Given the description of an element on the screen output the (x, y) to click on. 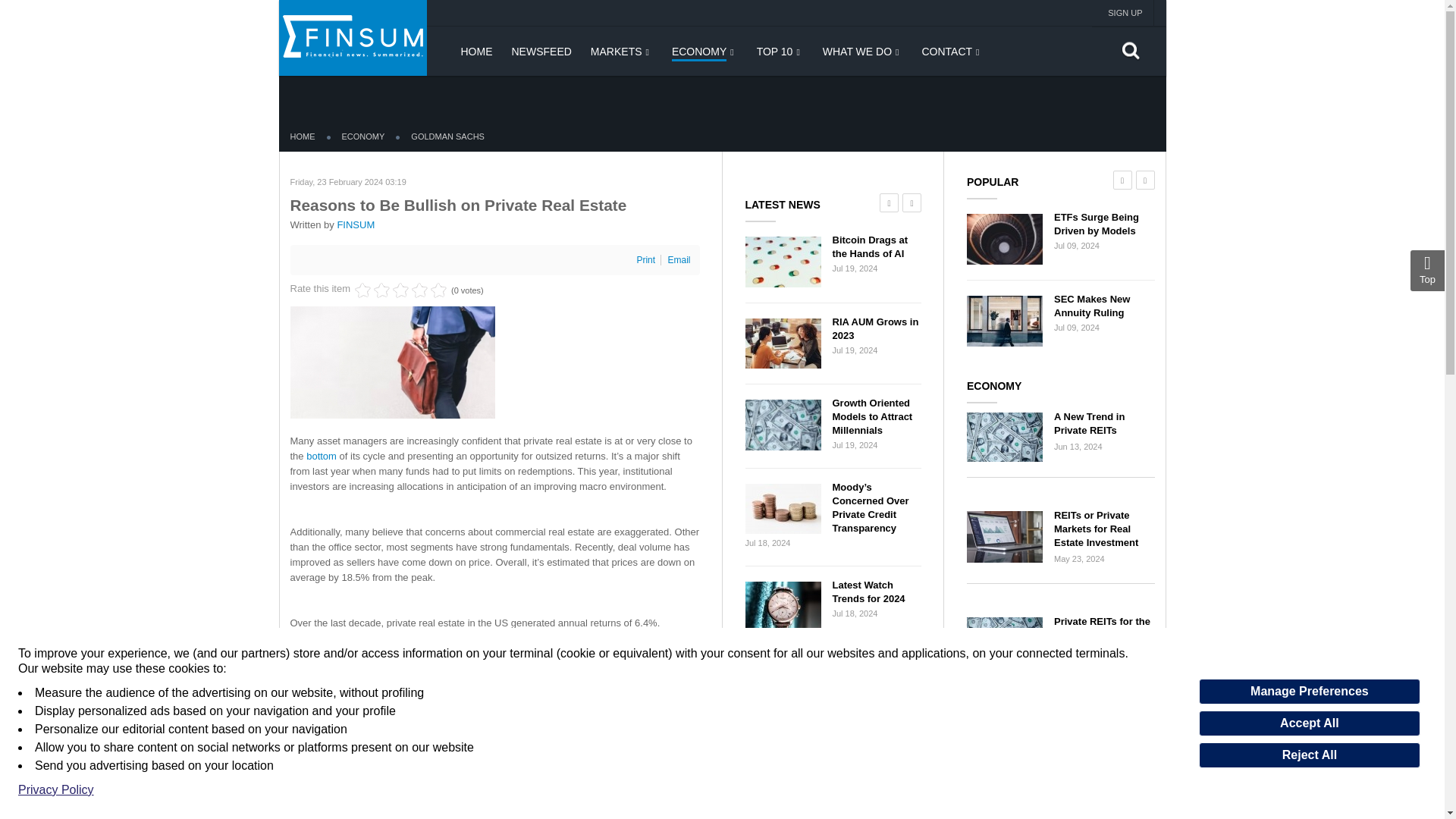
Manage Preferences (1309, 691)
Newsfeed (539, 51)
Top 10 (777, 51)
Markets (620, 51)
Economy (703, 51)
NEWSFEED (539, 51)
Accept All (1309, 723)
TOP 10 (777, 51)
Privacy Policy (55, 789)
Reject All (1309, 755)
Home  (473, 51)
HOME (473, 51)
SIGN UP (1124, 12)
WHAT WE DO (860, 51)
ECONOMY (703, 51)
